Given the description of an element on the screen output the (x, y) to click on. 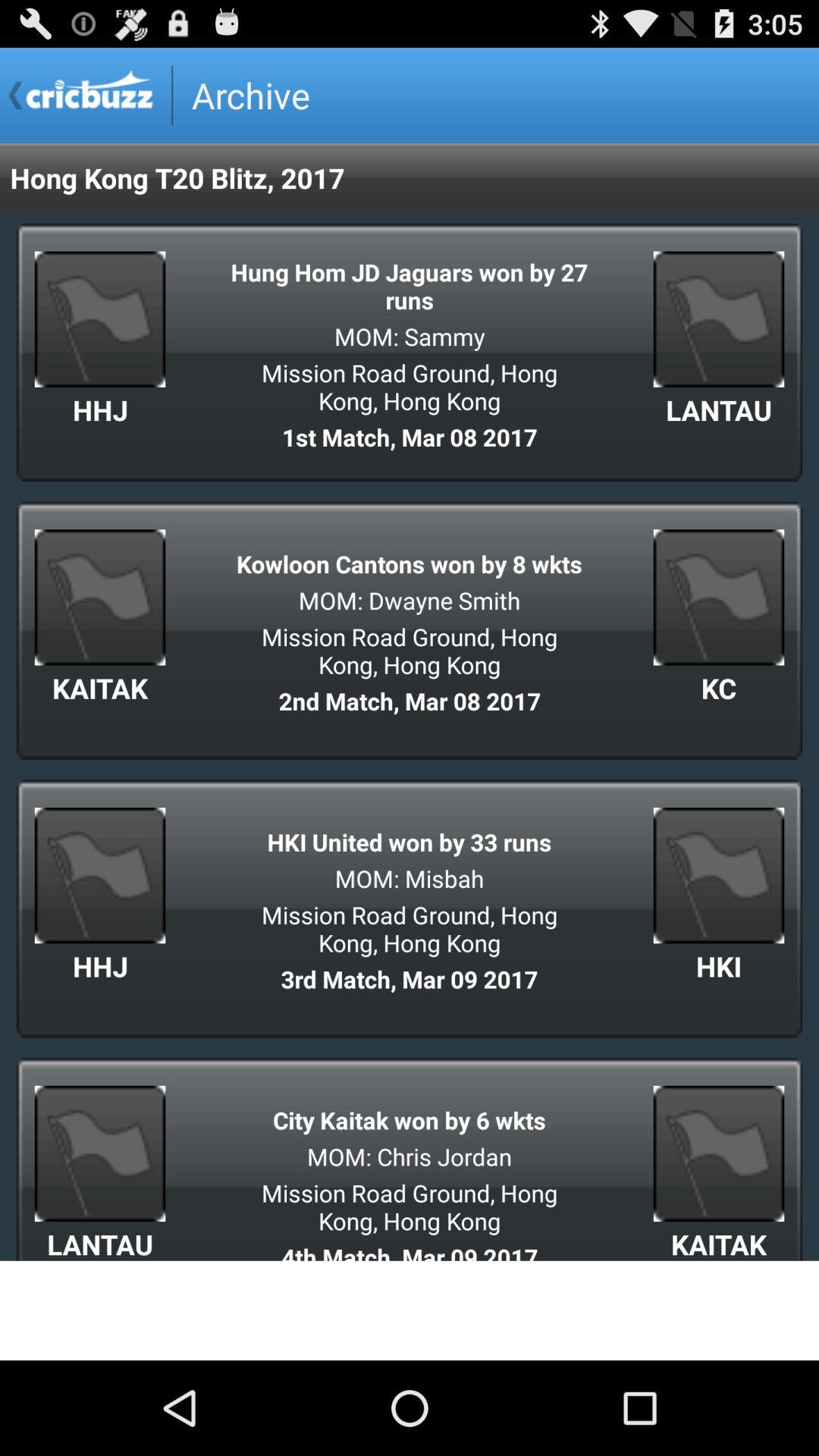
launch the hung hom jd (409, 285)
